Given the description of an element on the screen output the (x, y) to click on. 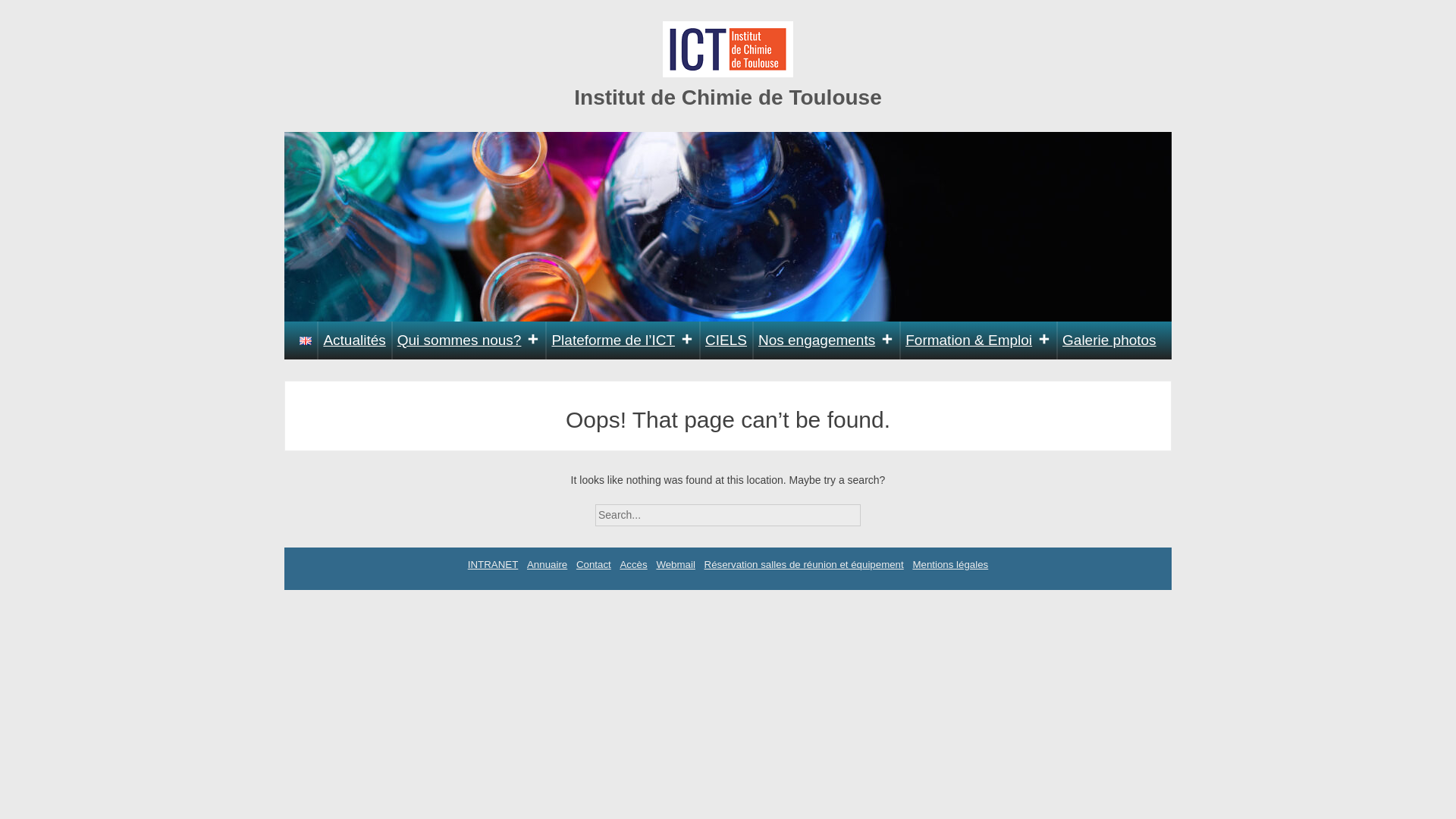
Search (873, 509)
Nos engagements (825, 340)
Institut de Chimie de Toulouse (727, 97)
Search (873, 509)
Qui sommes nous? (468, 340)
CIELS (726, 340)
